Given the description of an element on the screen output the (x, y) to click on. 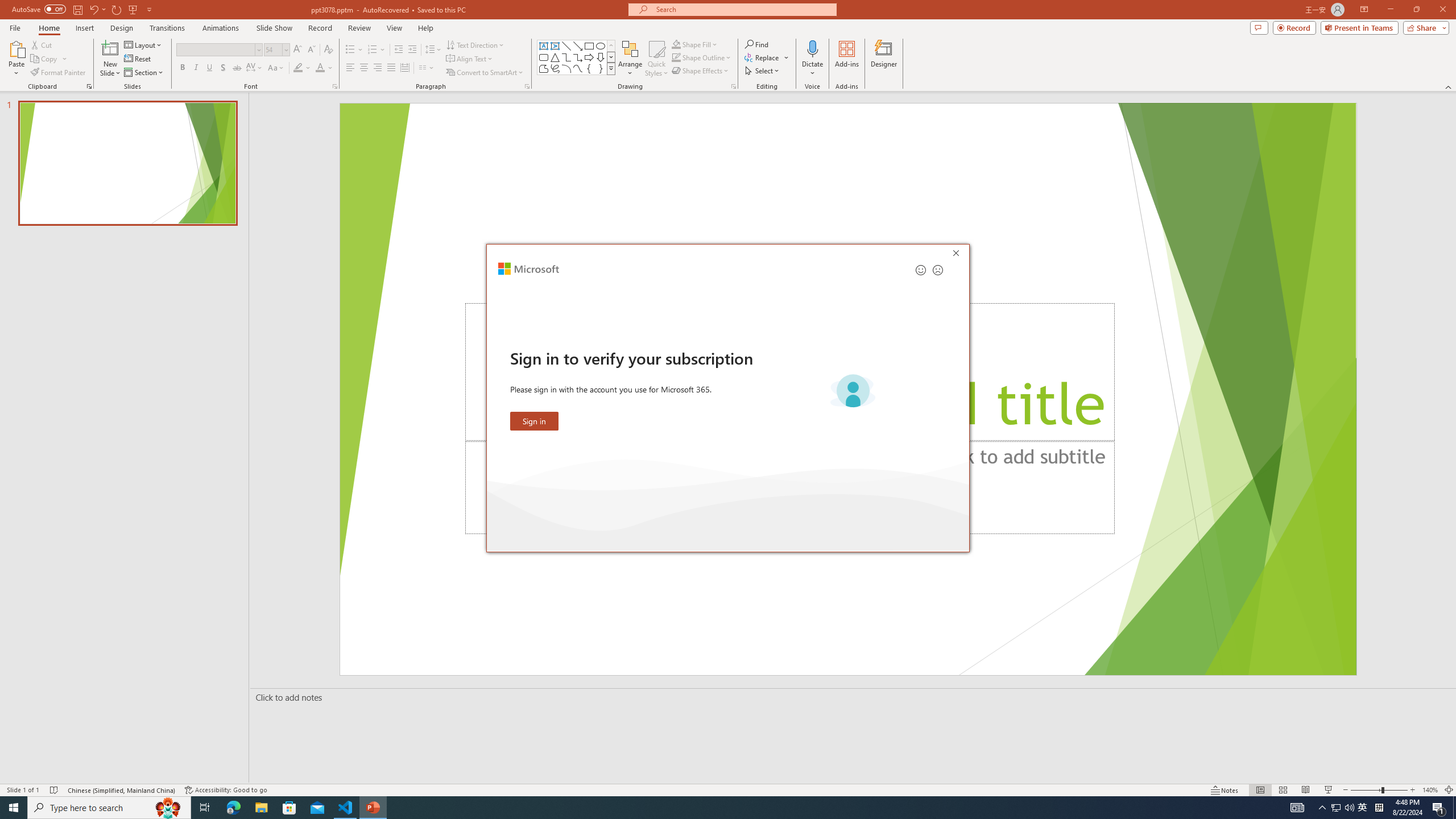
Running applications (707, 807)
Office Clipboard... (88, 85)
Paragraph... (526, 85)
Shape Effects (700, 69)
